Given the description of an element on the screen output the (x, y) to click on. 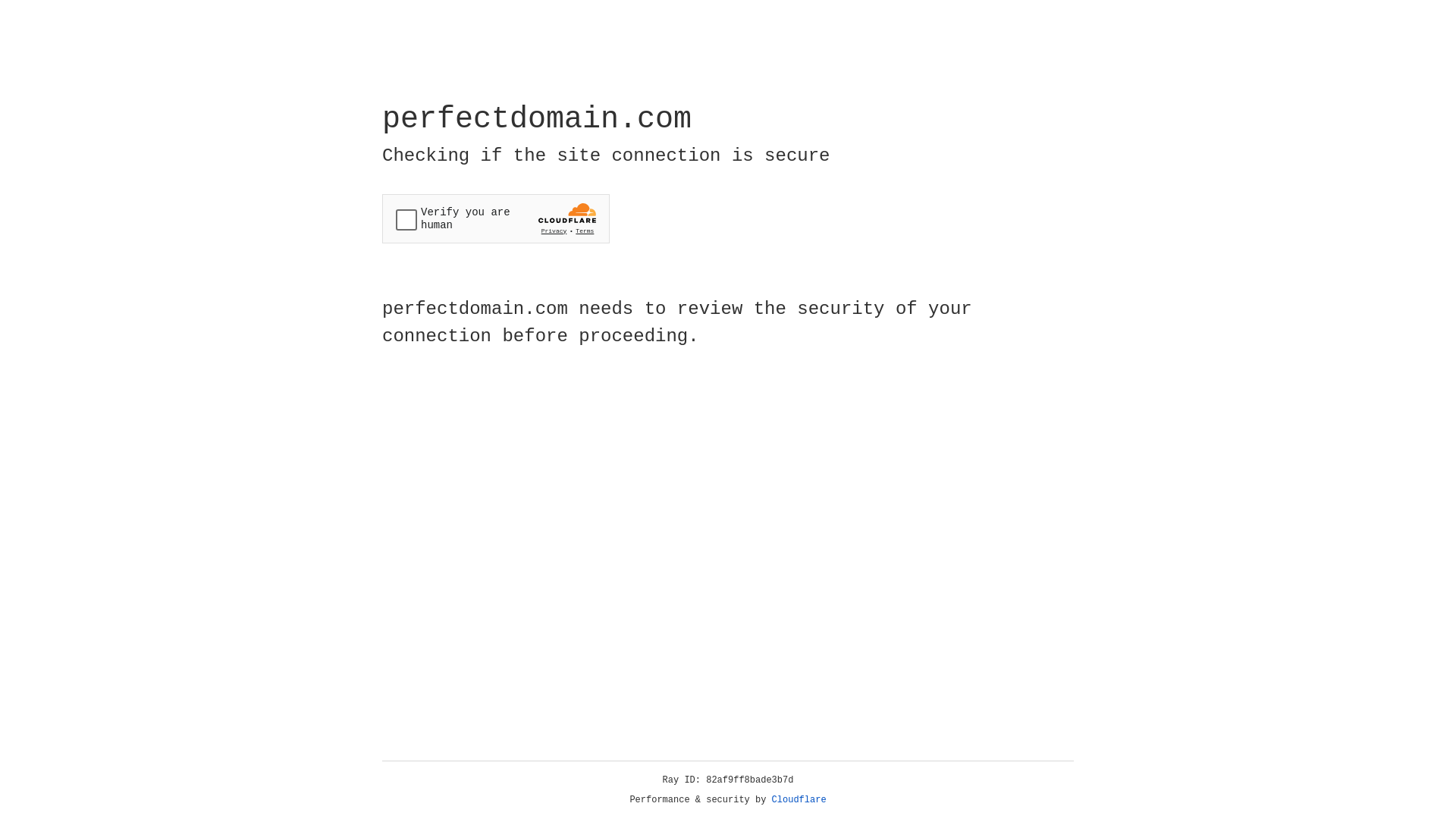
Widget containing a Cloudflare security challenge Element type: hover (495, 218)
Cloudflare Element type: text (798, 799)
